Given the description of an element on the screen output the (x, y) to click on. 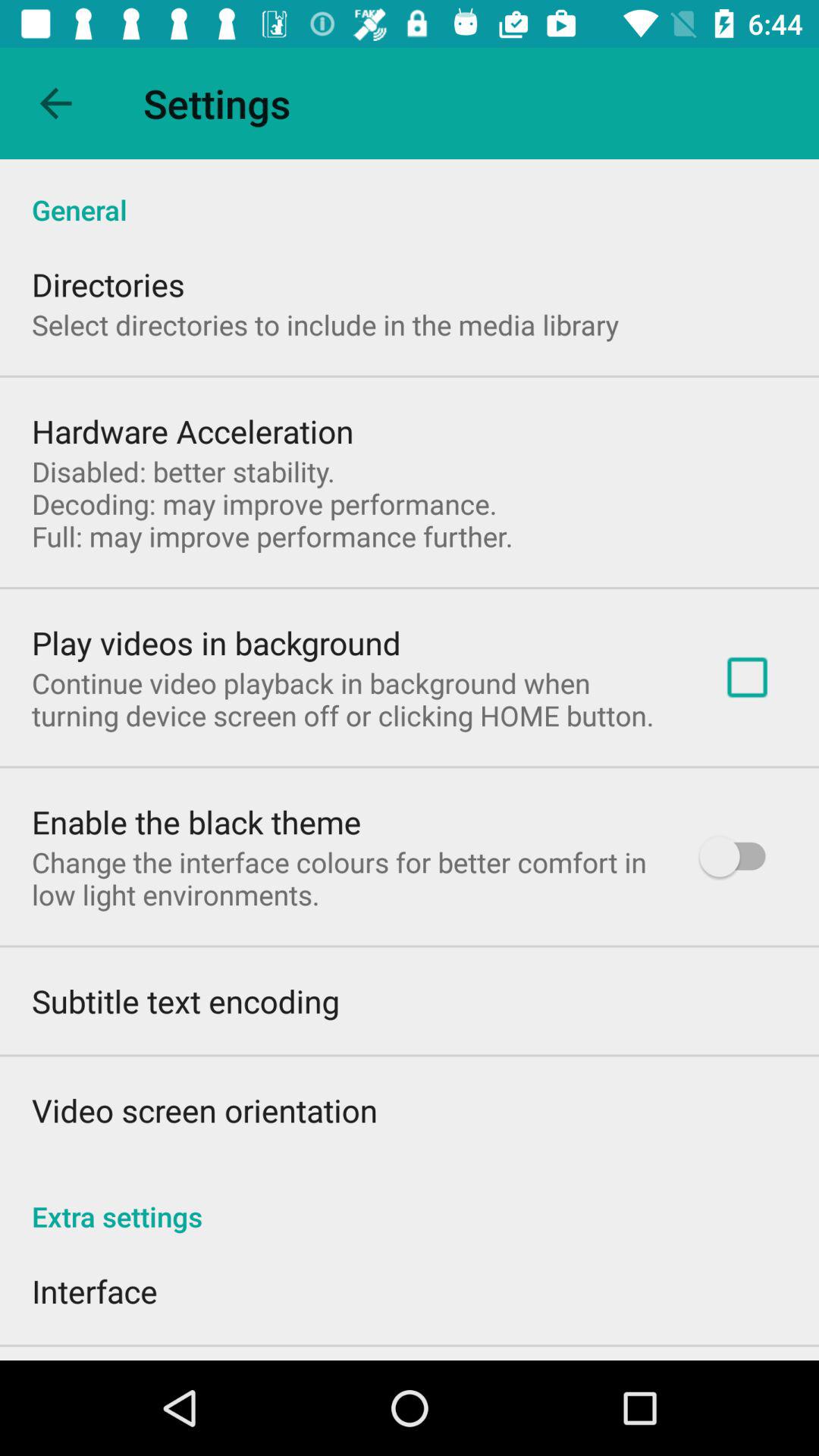
open the app next to the settings item (55, 103)
